Given the description of an element on the screen output the (x, y) to click on. 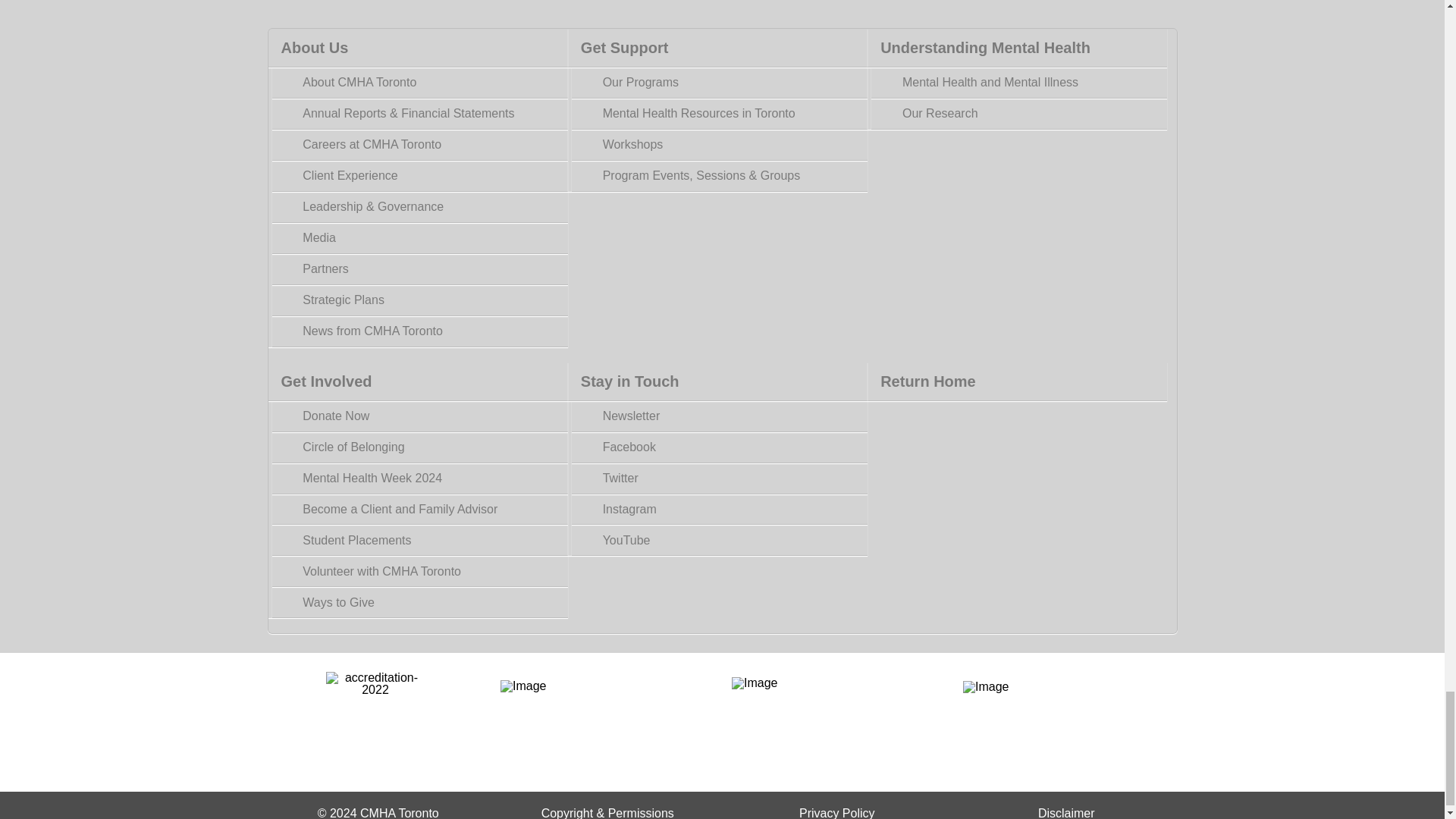
Disclaimer (1066, 812)
Copyright and Permissions (607, 812)
Privacy Policy (837, 812)
